Given the description of an element on the screen output the (x, y) to click on. 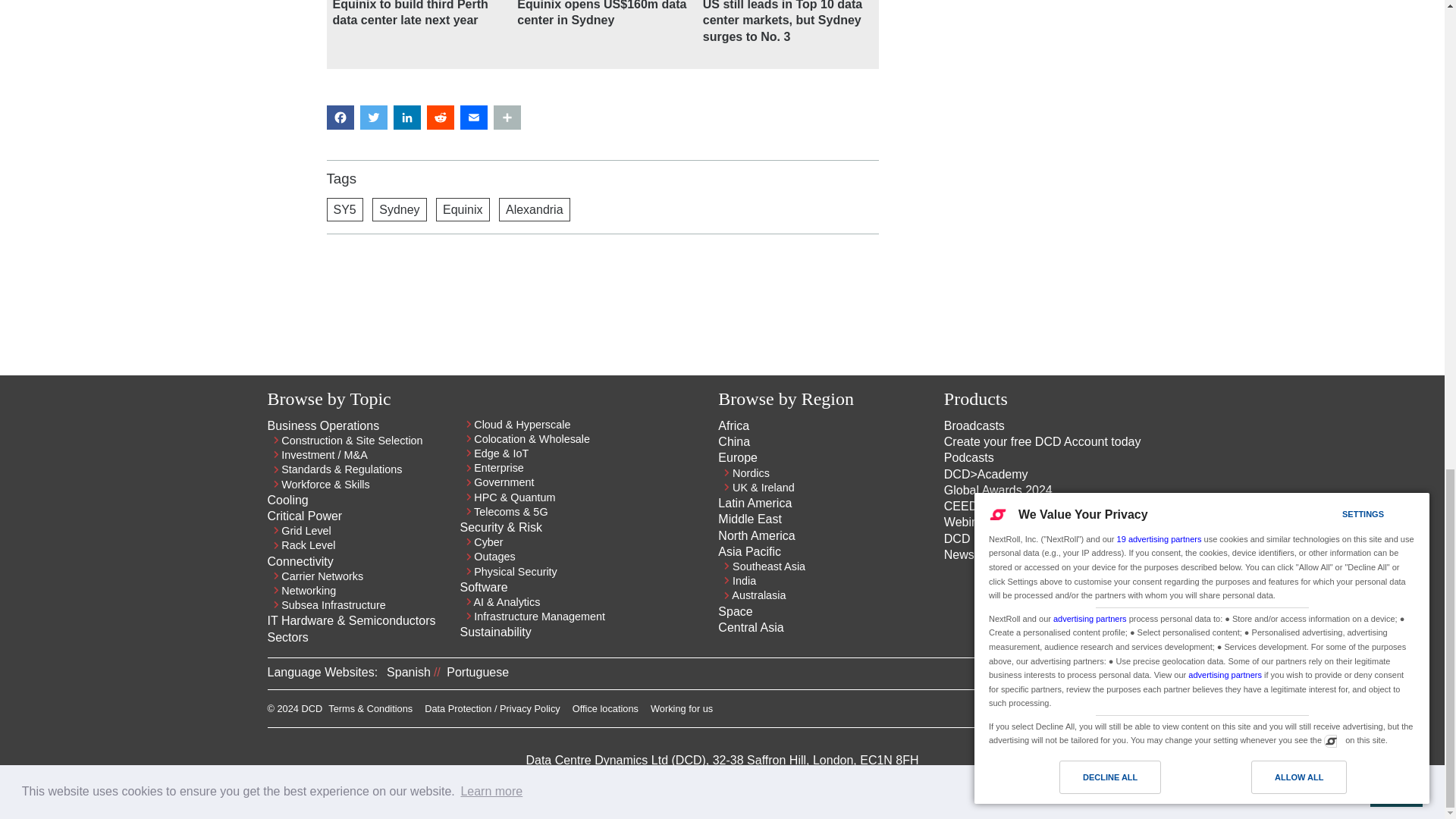
Linkedin (1113, 712)
SY5 Sydney Equinix Alexandria (601, 209)
Facebook (1167, 712)
3rd party ad content (601, 298)
Twitter (1140, 712)
3rd party ad content (1007, 103)
